Given the description of an element on the screen output the (x, y) to click on. 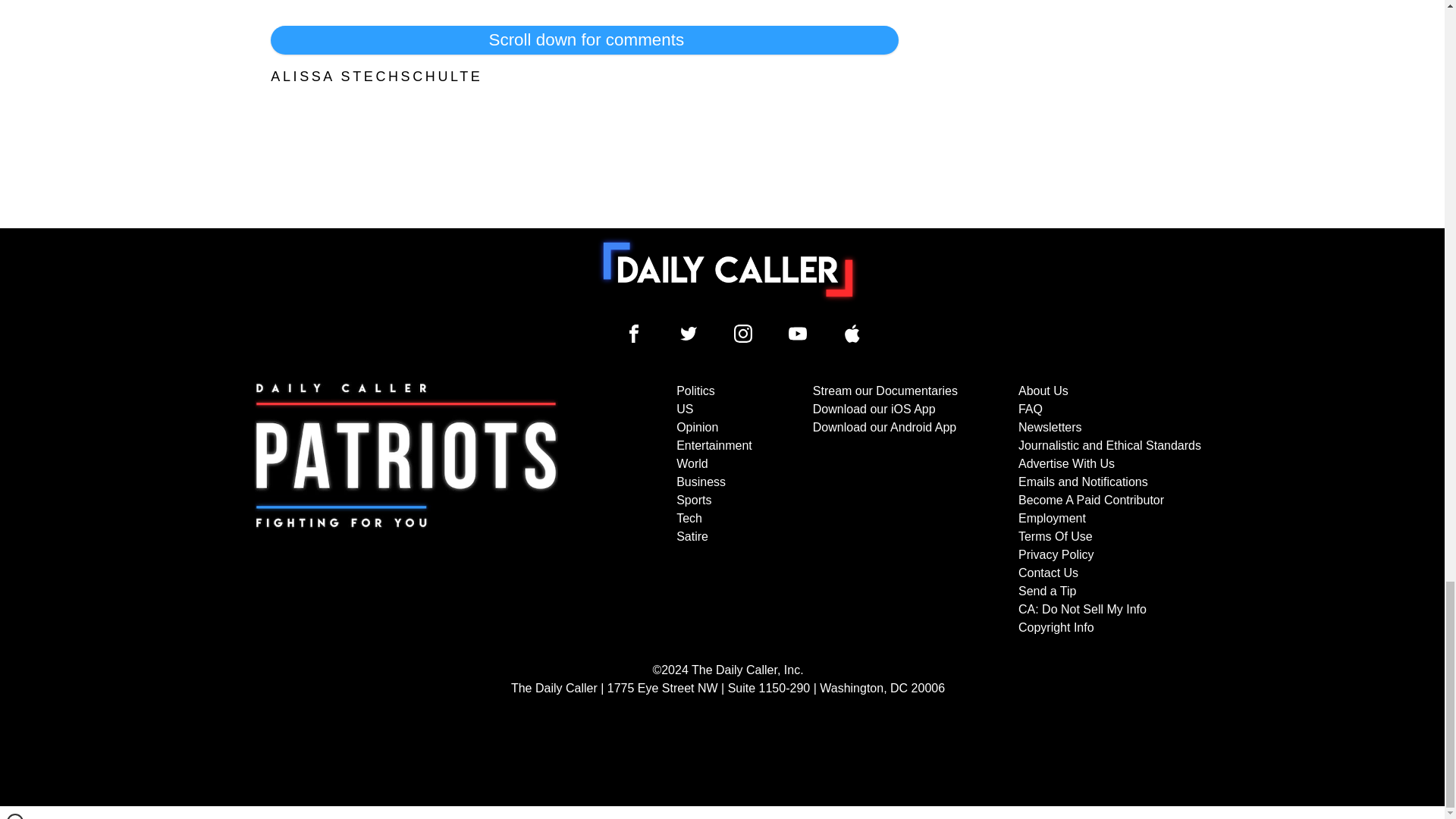
Daily Caller YouTube (797, 333)
Daily Caller Twitter (688, 333)
Scroll down for comments (584, 39)
Daily Caller YouTube (852, 333)
Daily Caller Facebook (633, 333)
Subscribe to The Daily Caller (405, 509)
To home page (727, 269)
Daily Caller Instagram (742, 333)
